Given the description of an element on the screen output the (x, y) to click on. 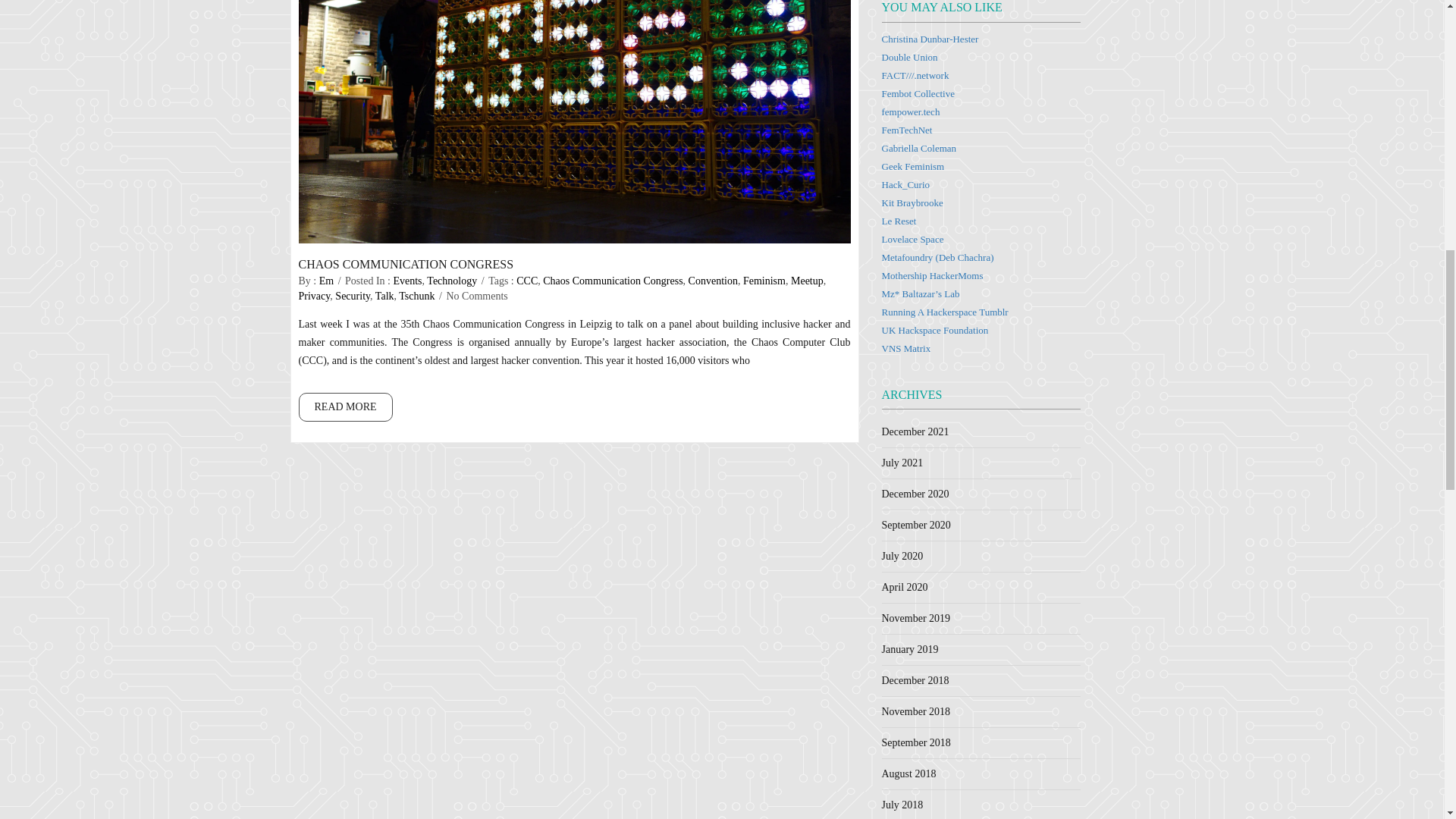
Events (407, 280)
Security (351, 296)
READ MORE (345, 407)
Em (325, 280)
Meetup (807, 280)
Feminism (764, 280)
CCC (526, 280)
Convention (713, 280)
Tschunk (415, 296)
Technology (451, 280)
